Given the description of an element on the screen output the (x, y) to click on. 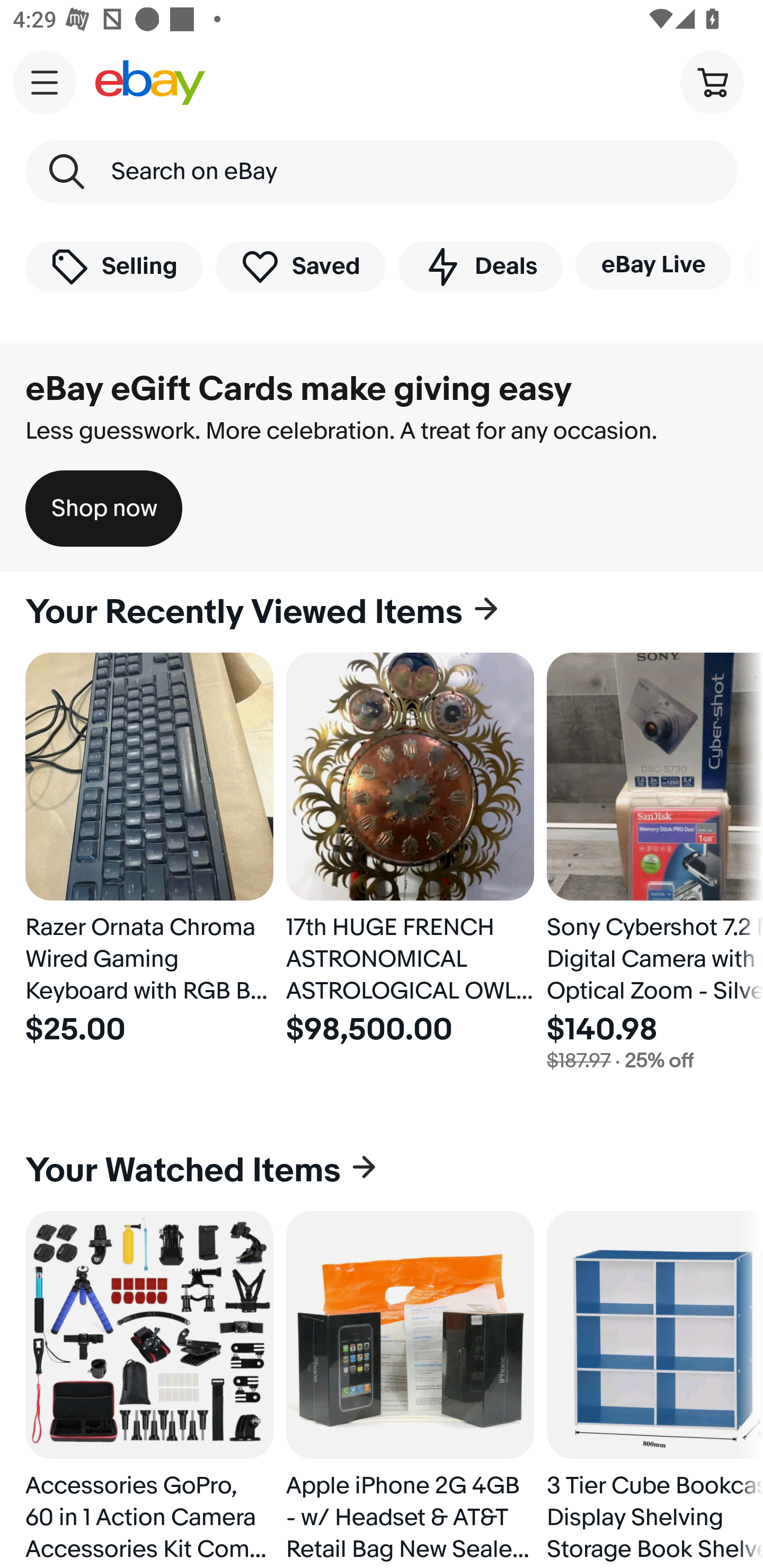
Main navigation, open (44, 82)
Cart button shopping cart (711, 81)
Search on eBay Search Keyword Search on eBay (381, 171)
Selling (113, 266)
Saved (300, 266)
Deals (480, 266)
eBay Live (652, 264)
eBay eGift Cards make giving easy (298, 389)
Shop now (103, 508)
Your Recently Viewed Items   (381, 612)
Your Watched Items   (381, 1170)
